Given the description of an element on the screen output the (x, y) to click on. 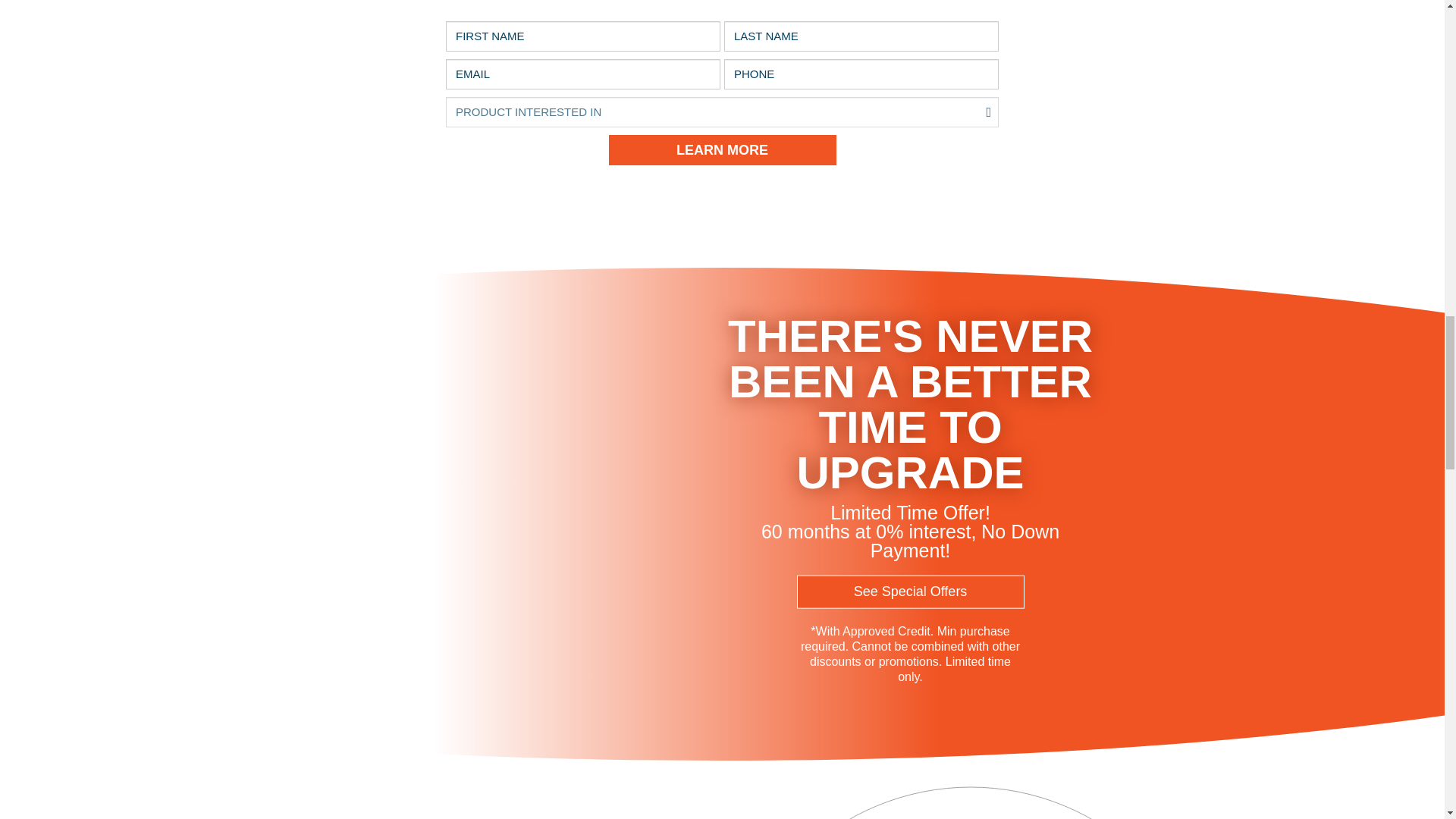
See Special Offers (909, 592)
LEARN MORE (721, 150)
